Given the description of an element on the screen output the (x, y) to click on. 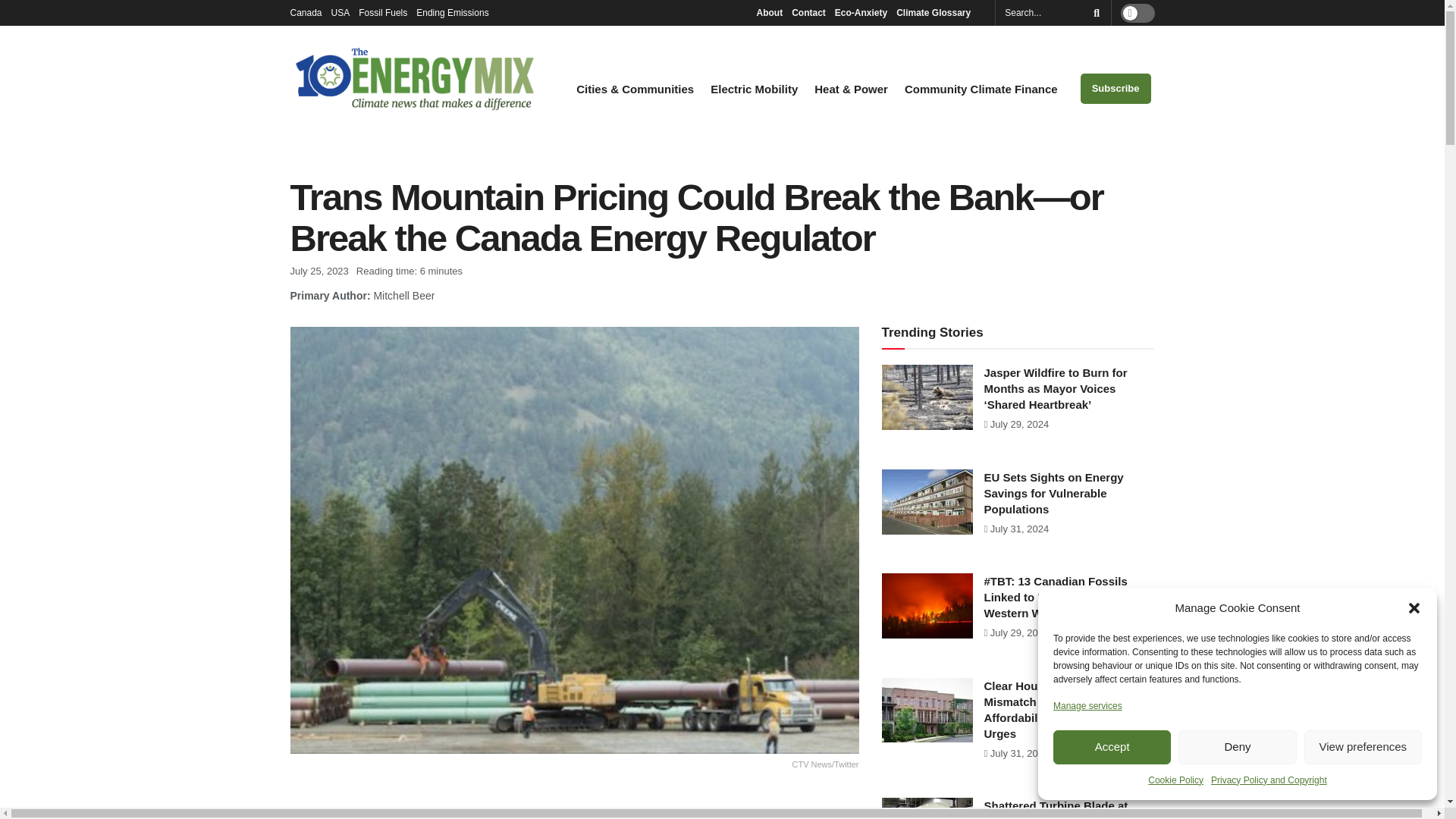
View preferences (1363, 747)
Community Climate Finance (981, 89)
Eco-Anxiety (860, 12)
Privacy Policy and Copyright (1268, 780)
About (769, 12)
Climate Glossary (937, 12)
Cookie Policy (1176, 780)
Manage services (1087, 705)
Canada (305, 12)
Contact (808, 12)
